Given the description of an element on the screen output the (x, y) to click on. 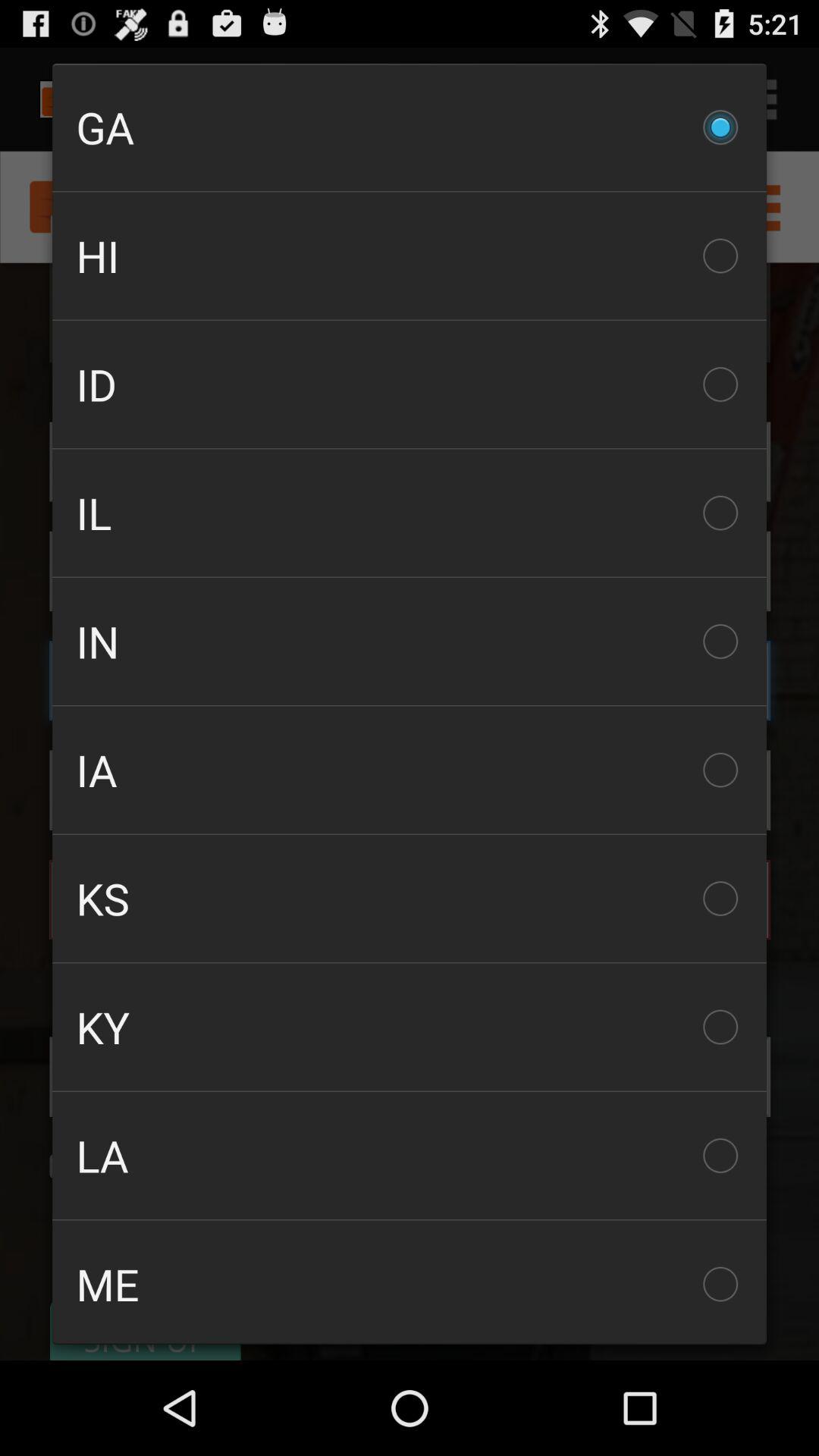
jump until ia item (409, 769)
